Given the description of an element on the screen output the (x, y) to click on. 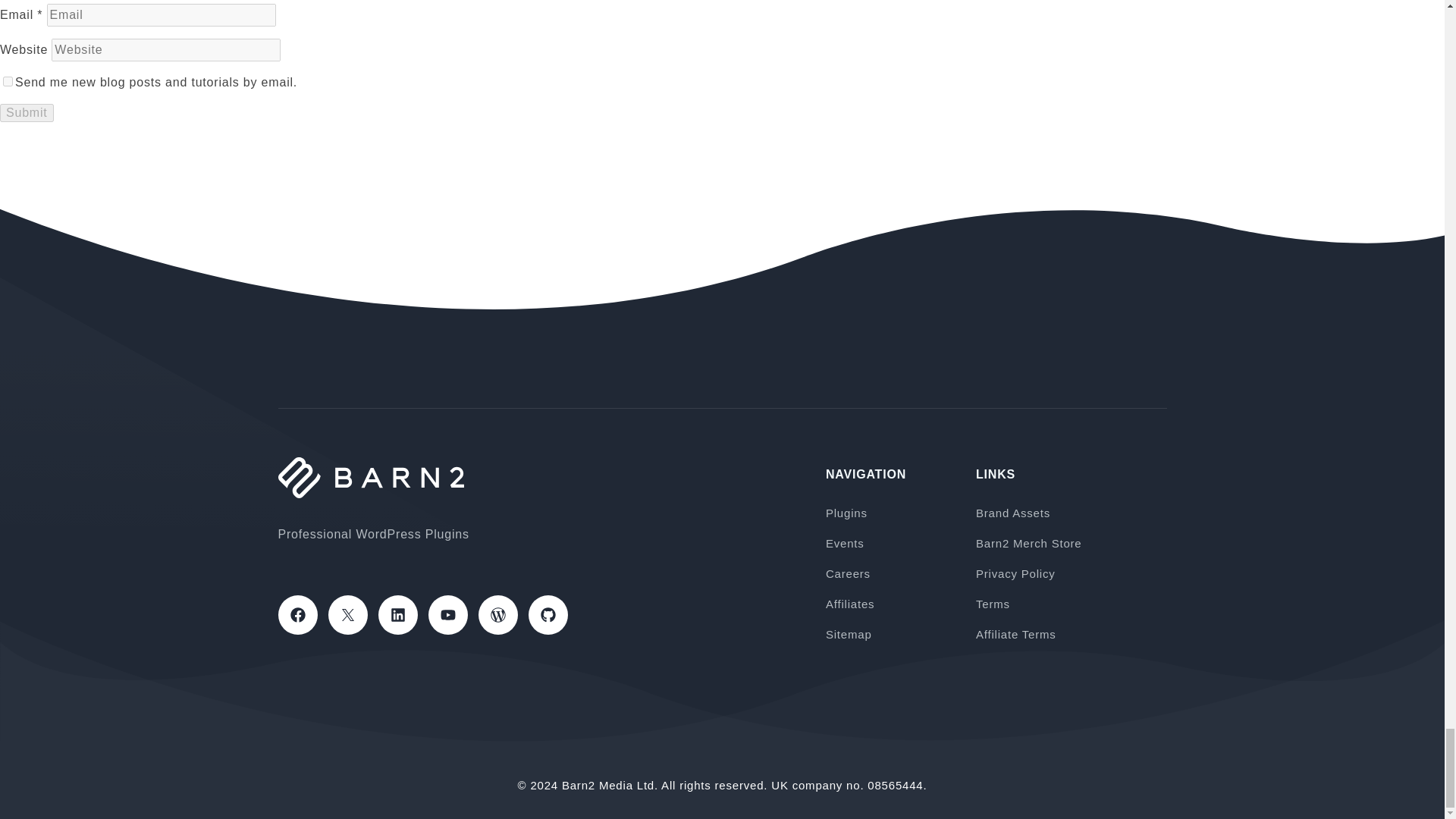
Submit (26, 112)
on (7, 80)
